Given the description of an element on the screen output the (x, y) to click on. 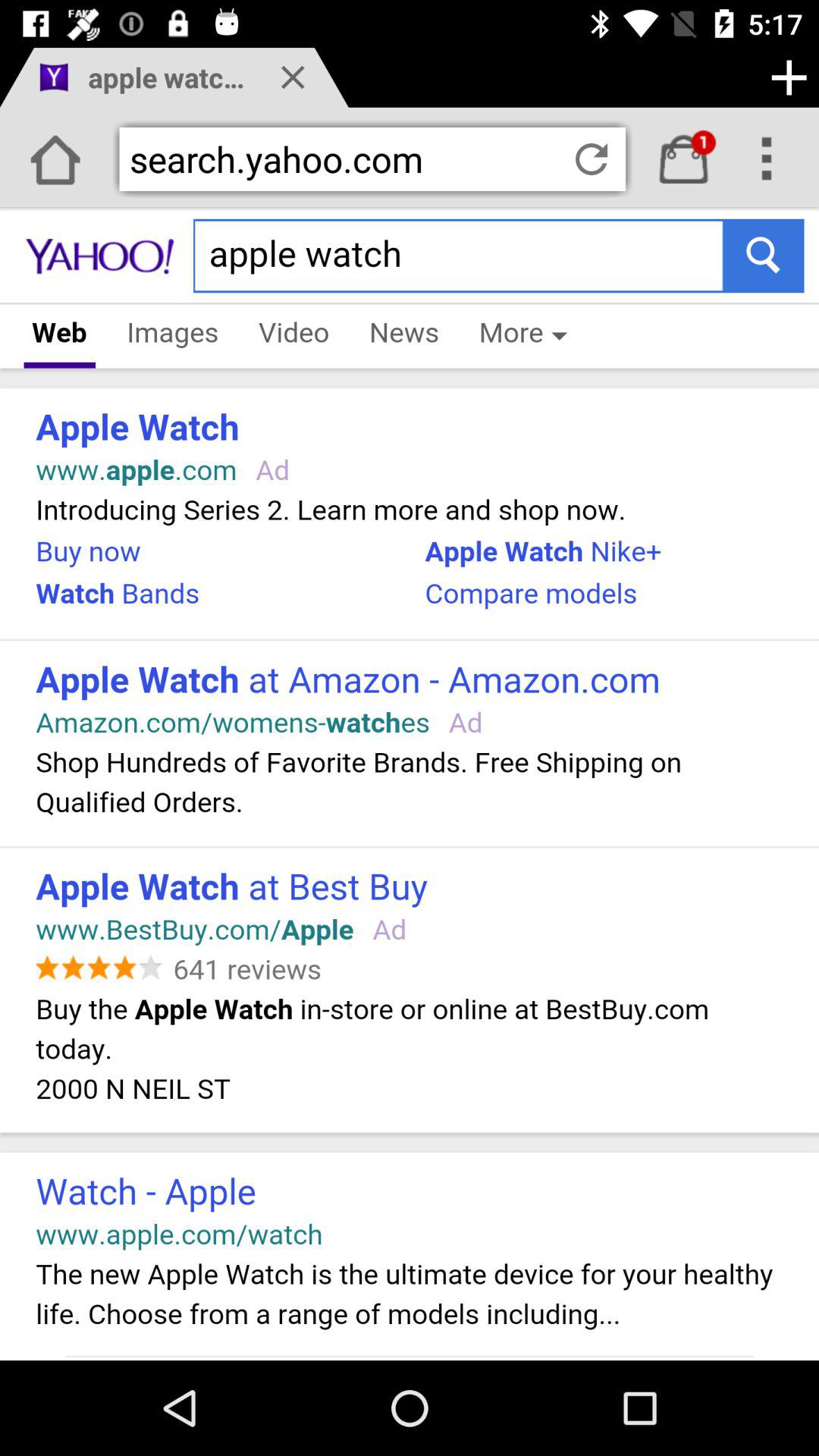
open new tab (789, 77)
